Given the description of an element on the screen output the (x, y) to click on. 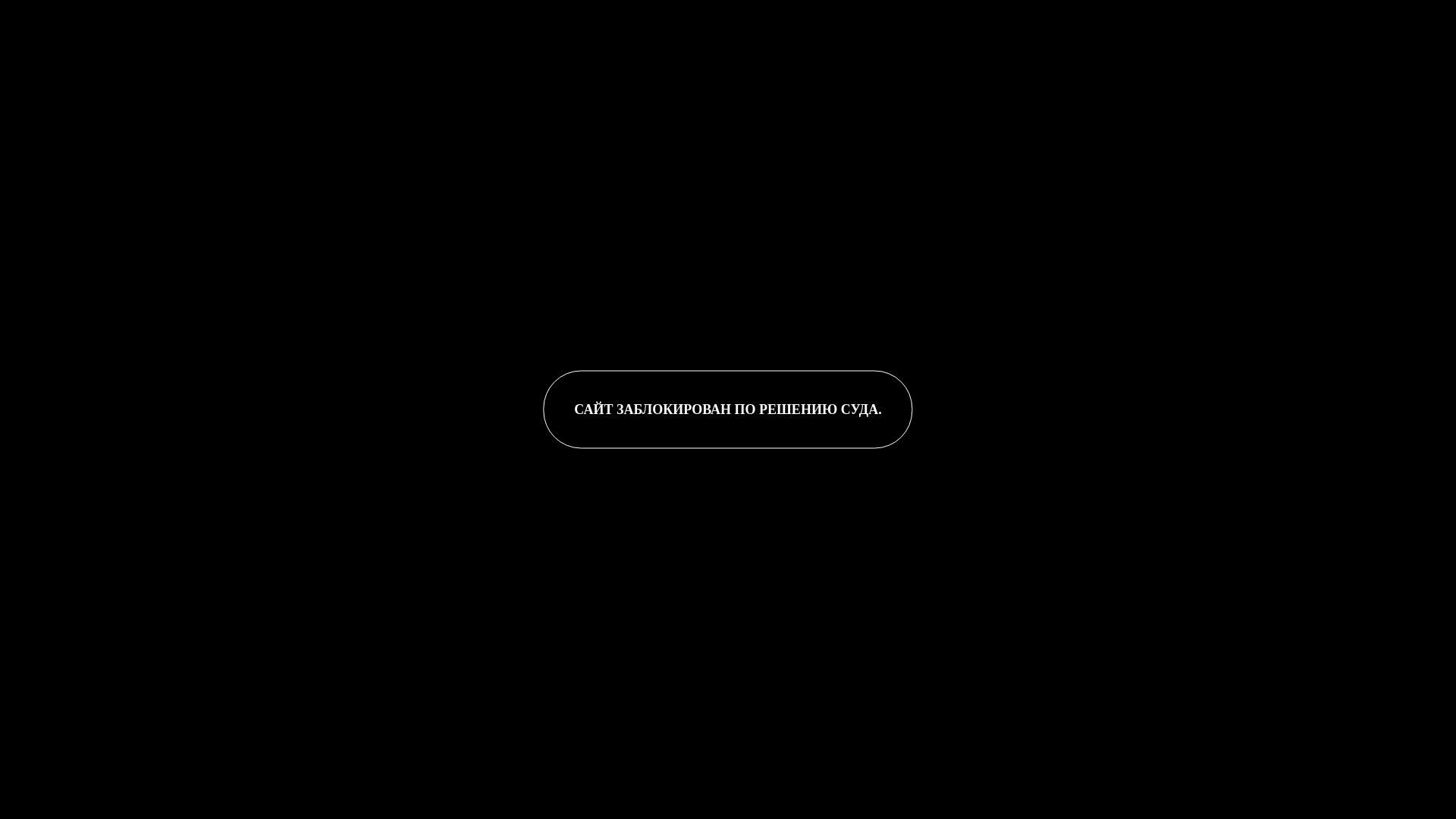
Go! Element type: text (271, 17)
